Given the description of an element on the screen output the (x, y) to click on. 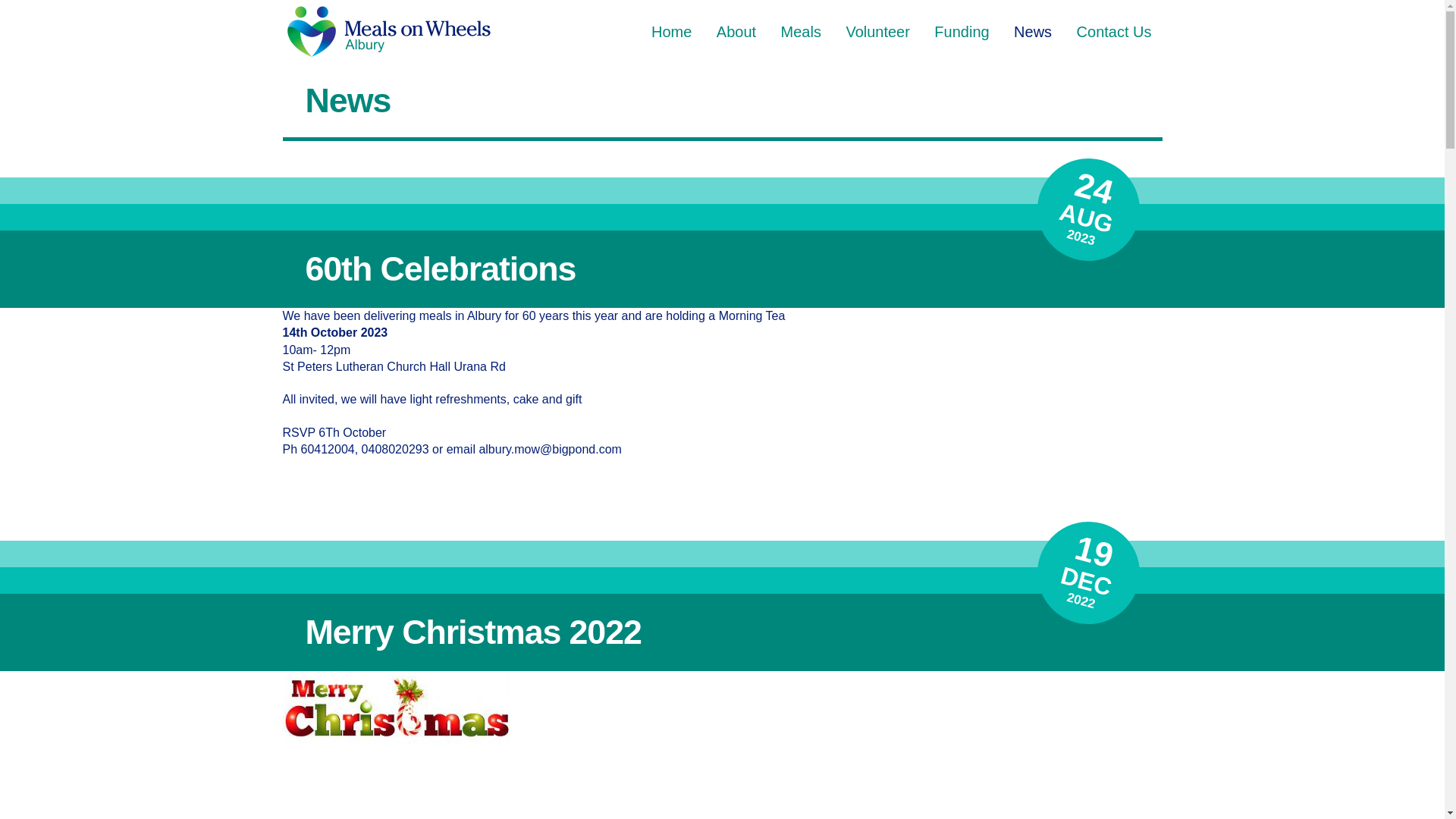
Albury Meals on Wheels Element type: hover (388, 14)
Volunteer Element type: text (877, 31)
Meals Element type: text (800, 31)
60th Celebrations Element type: text (721, 268)
About Element type: text (736, 31)
Albury Meals on Wheels Element type: hover (388, 31)
Contact Us Element type: text (1114, 31)
Merry Christmas 2022 Element type: text (721, 632)
Home Element type: text (671, 31)
Funding Element type: text (961, 31)
News Element type: text (1032, 31)
